Given the description of an element on the screen output the (x, y) to click on. 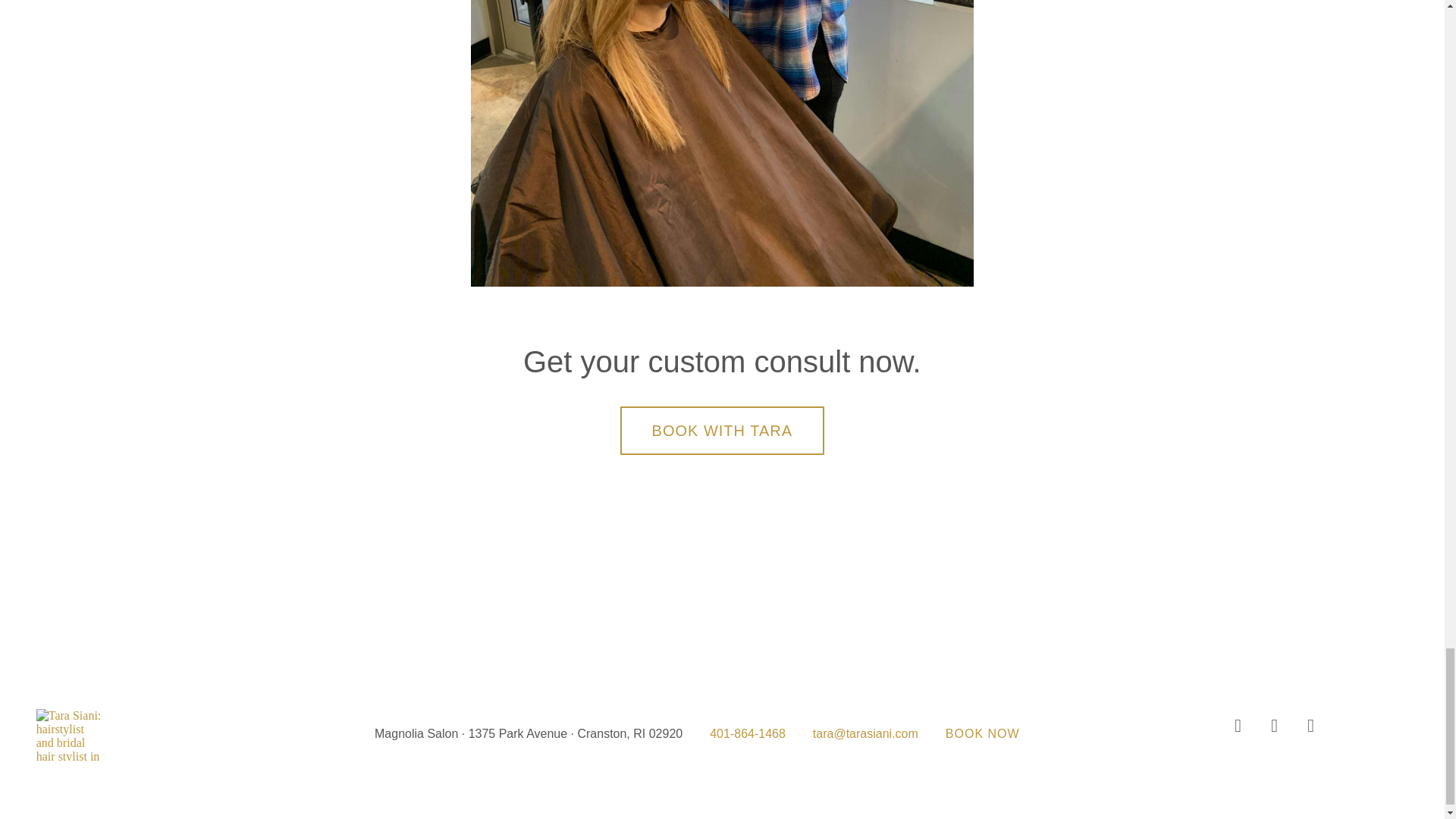
401-864-1468 (748, 733)
BOOK NOW (982, 733)
BOOK WITH TARA (722, 430)
